Given the description of an element on the screen output the (x, y) to click on. 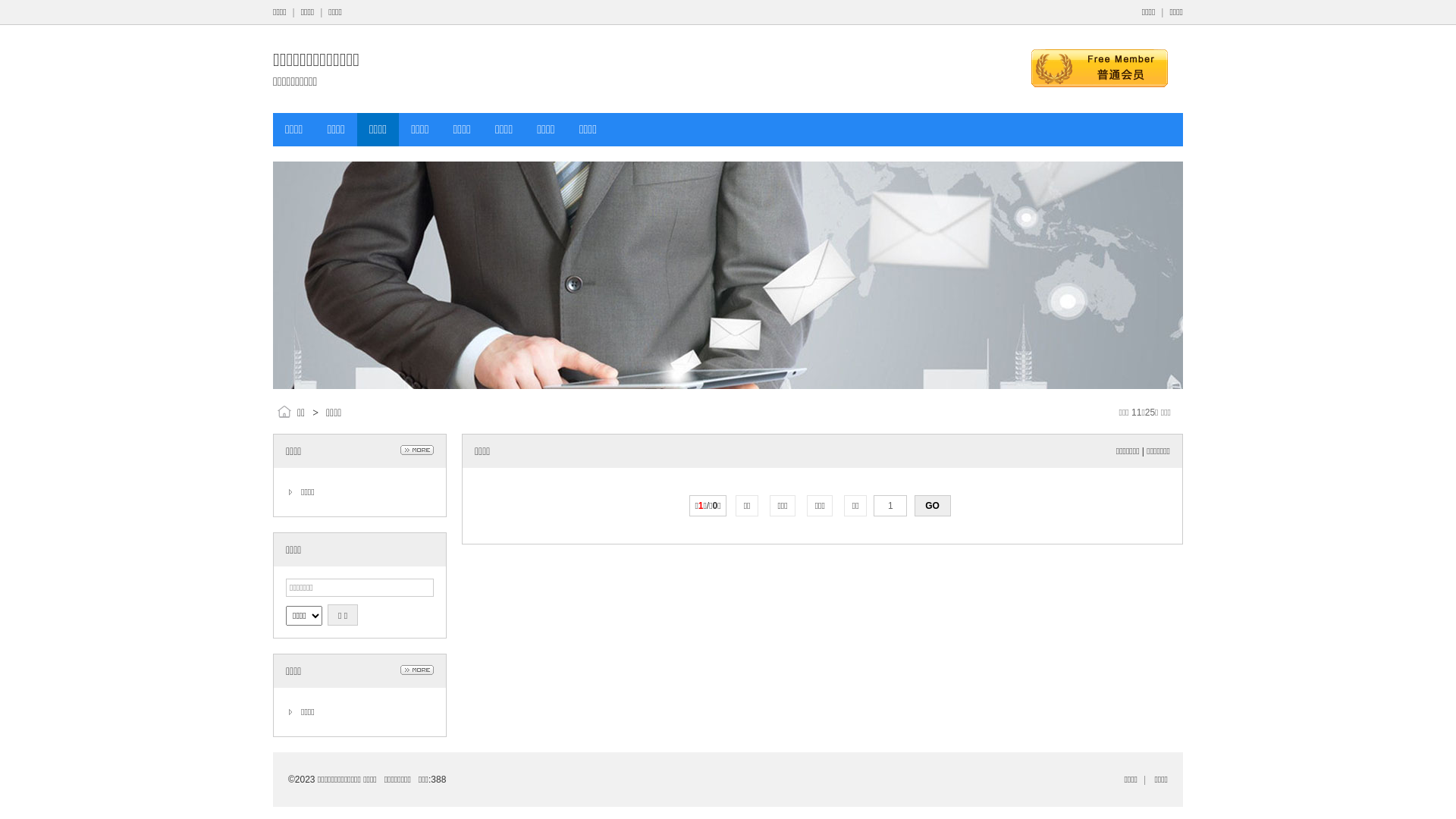
GO Element type: text (932, 505)
